Given the description of an element on the screen output the (x, y) to click on. 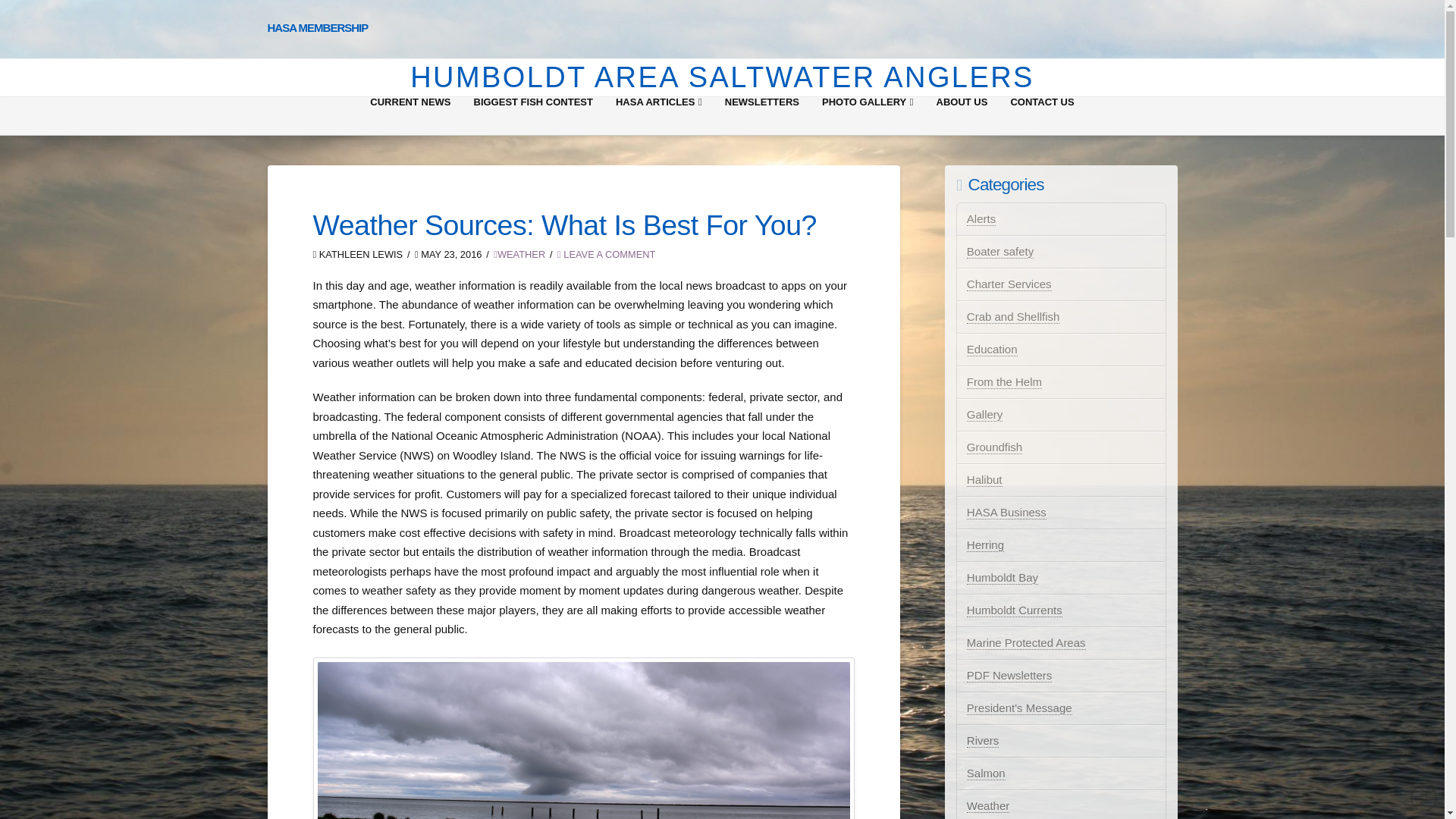
HASA ARTICLES (658, 116)
CONTACT US (1041, 116)
PHOTO GALLERY (867, 116)
HUMBOLDT AREA SALTWATER ANGLERS (721, 77)
NEWSLETTERS (761, 116)
HASA MEMBERSHIP (317, 27)
CURRENT NEWS (409, 116)
BIGGEST FISH CONTEST (533, 116)
Back to Top (1423, 797)
ABOUT US (961, 116)
